Given the description of an element on the screen output the (x, y) to click on. 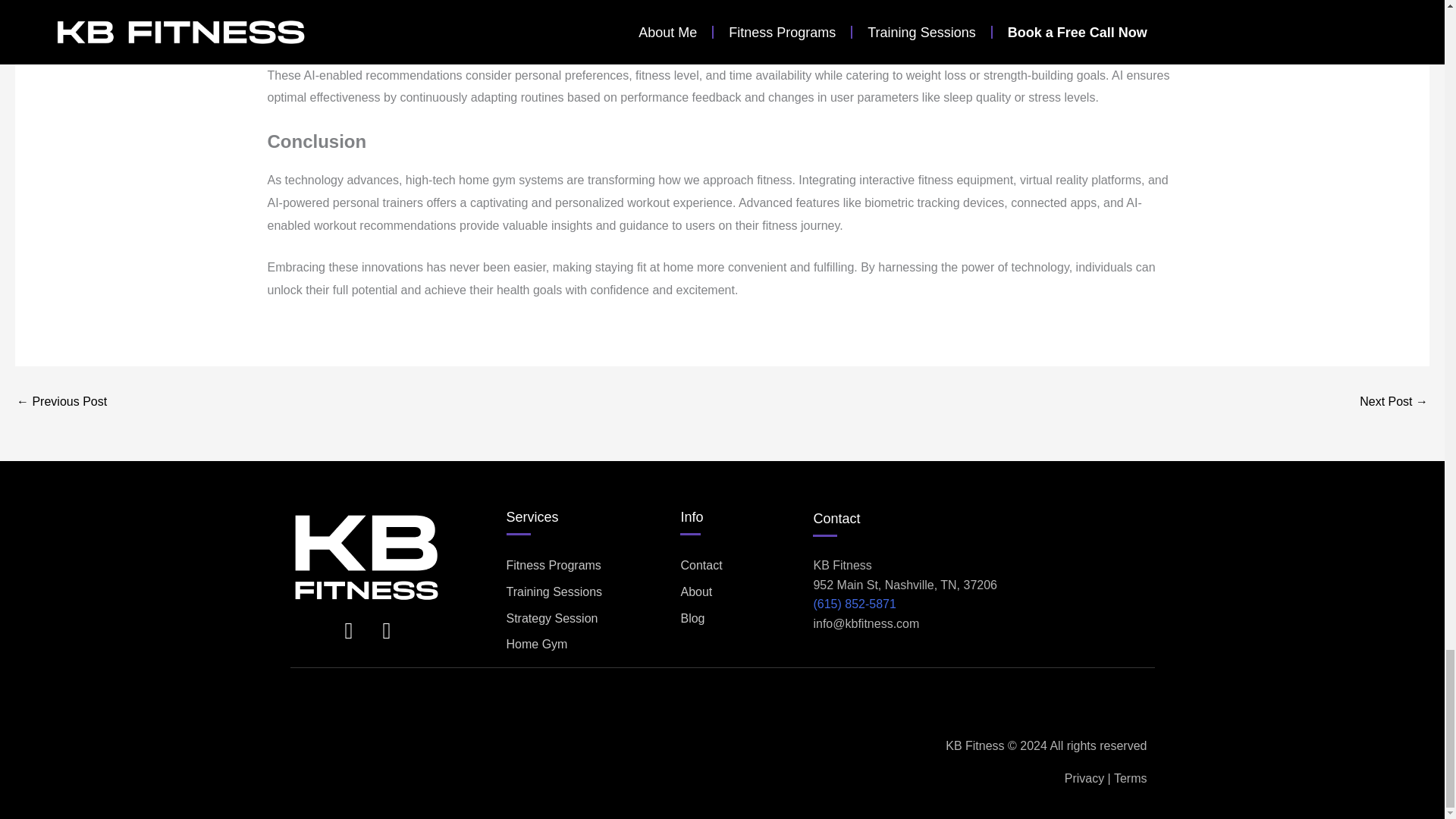
Contact (836, 518)
Contact (745, 565)
Training Sessions (589, 591)
Services (532, 516)
Strategy Session (589, 618)
Privacy (1083, 778)
Instagram (348, 630)
About (745, 591)
Personalized Diet Consultation Services (61, 401)
Blog (745, 618)
